Given the description of an element on the screen output the (x, y) to click on. 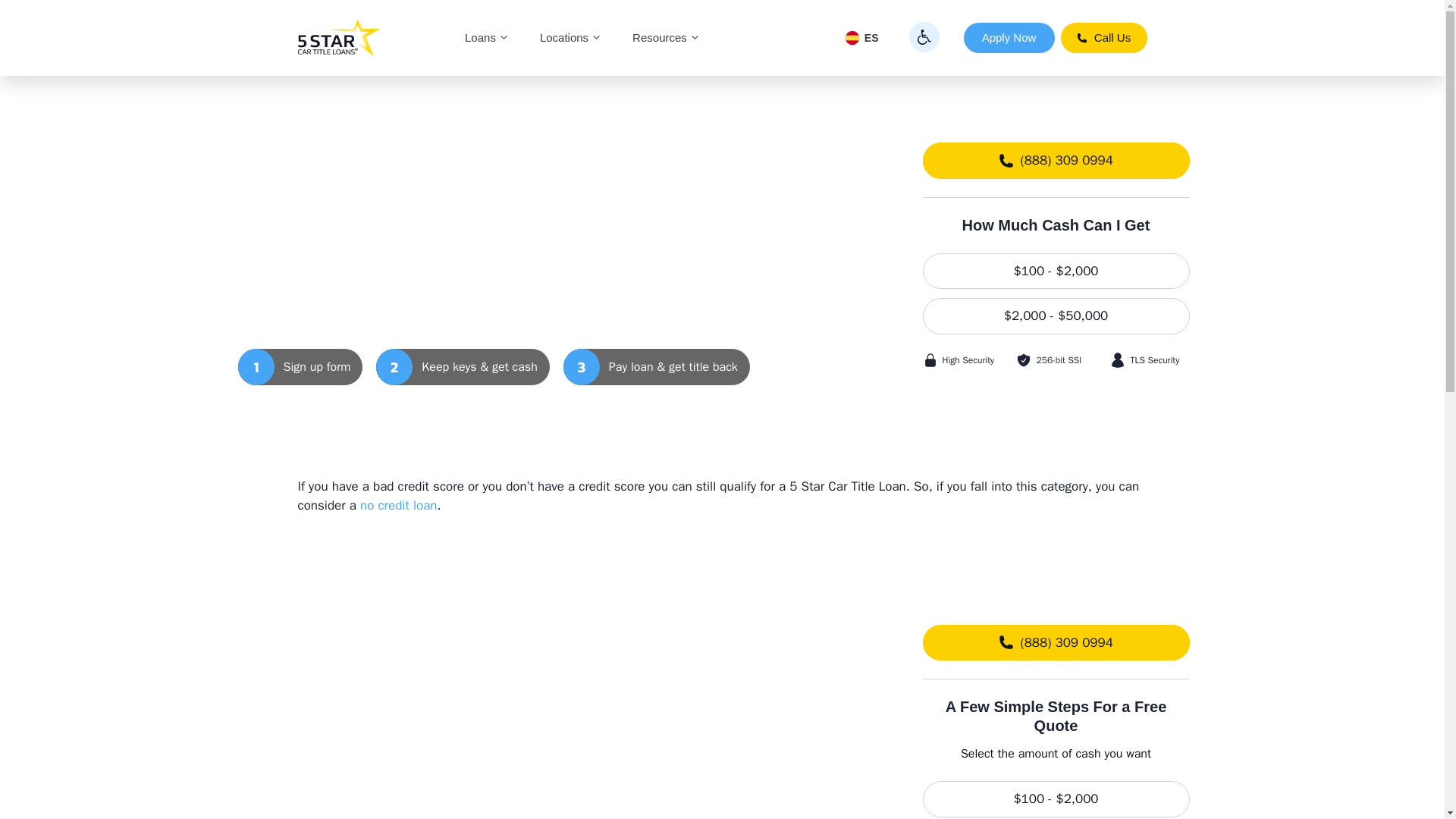
Loans (486, 37)
Apply Now (1008, 37)
ES (861, 37)
Locations (570, 37)
no credit loan (398, 505)
Call Us (1103, 37)
Resources (666, 37)
